Given the description of an element on the screen output the (x, y) to click on. 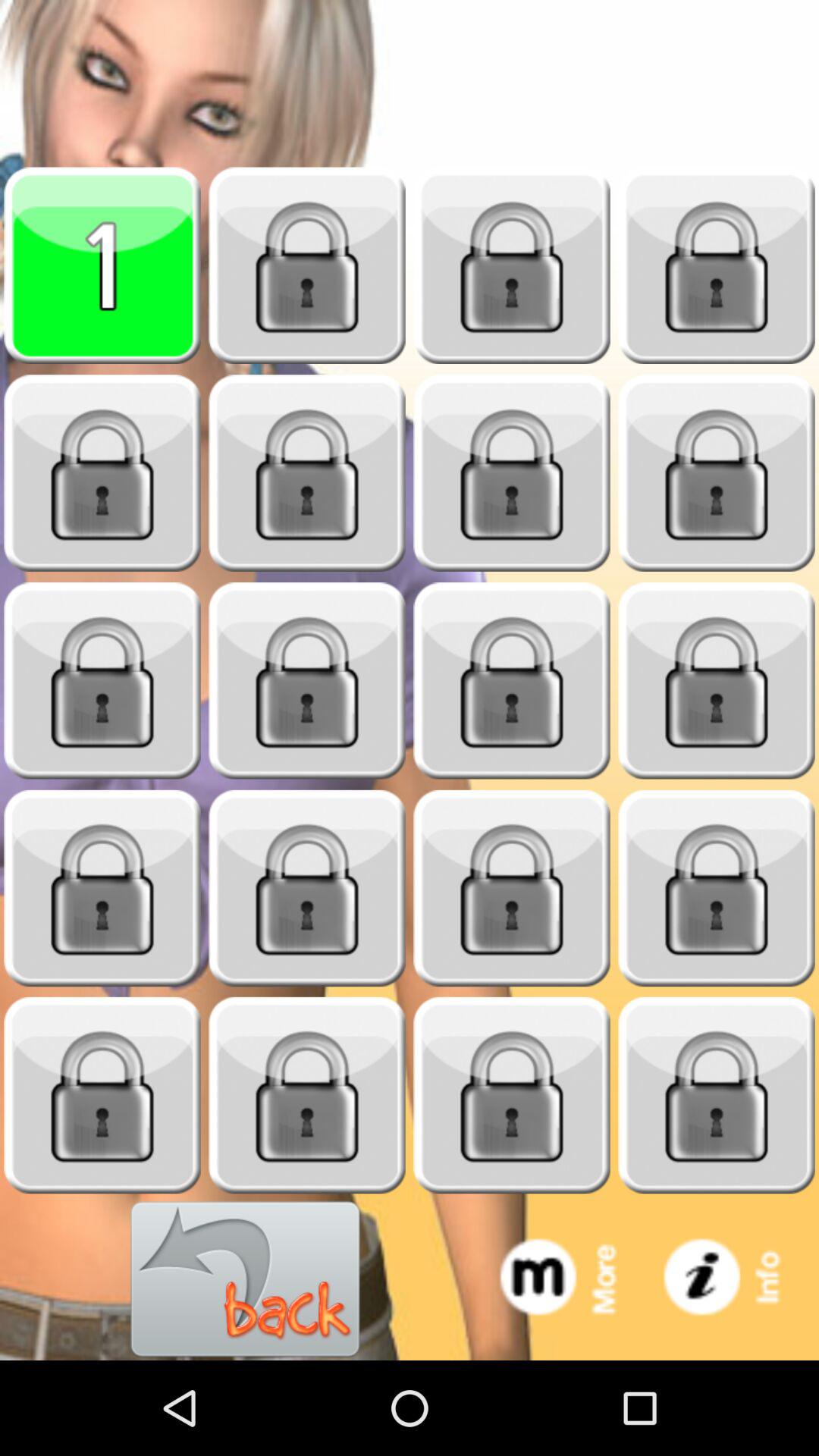
show unlock requirements (511, 473)
